Given the description of an element on the screen output the (x, y) to click on. 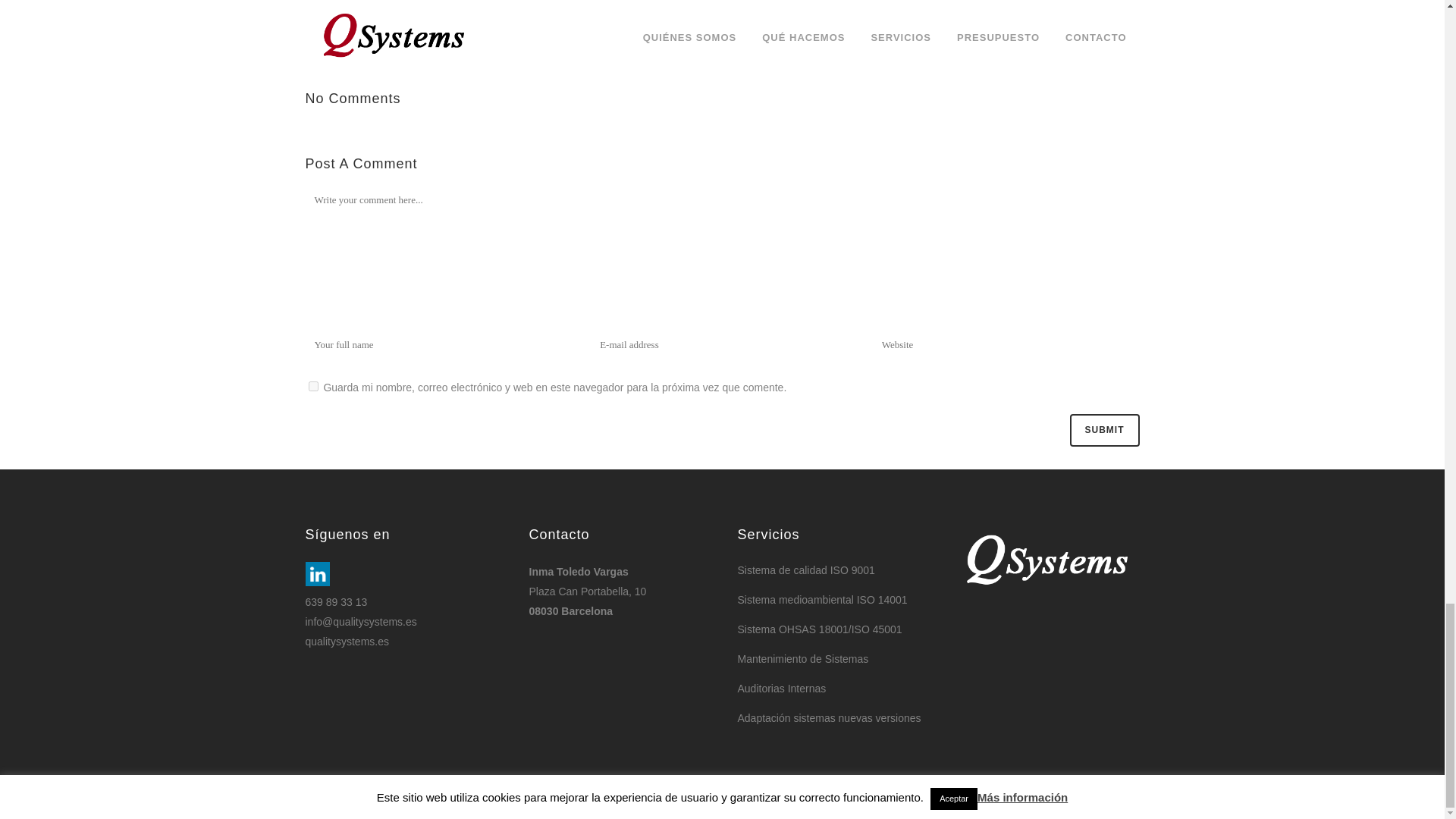
Submit (1103, 430)
Sistema medioambiental ISO 14001 (831, 599)
yes (312, 386)
Sistema de calidad ISO 9001 (831, 569)
Submit (1103, 430)
qualitysystems.es (346, 641)
